Given the description of an element on the screen output the (x, y) to click on. 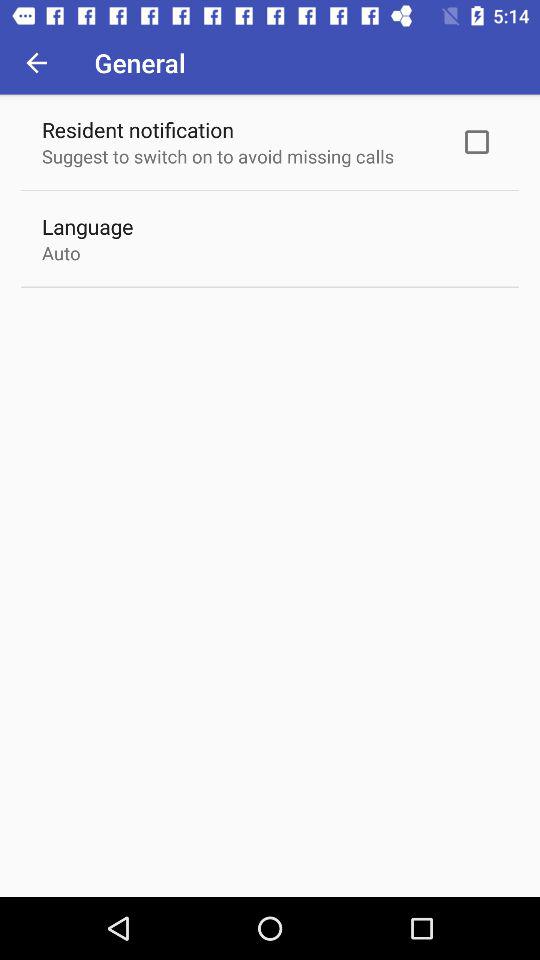
turn on the item next to general item (36, 62)
